Given the description of an element on the screen output the (x, y) to click on. 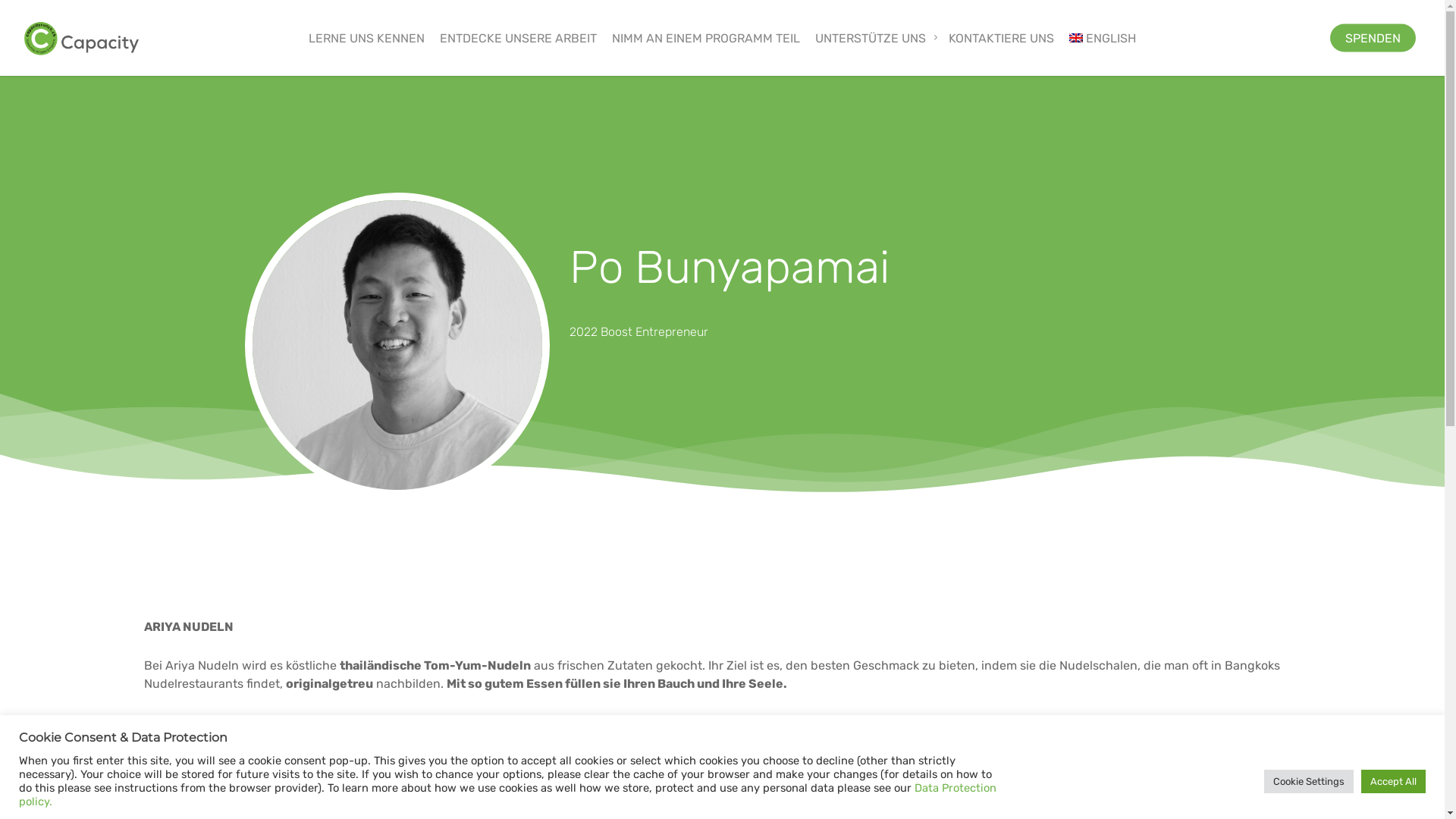
ariya@ariya-nudeln.ch Element type: text (208, 758)
ariya.nudeln Element type: text (243, 740)
www.ariya-nudeln.ch Element type: text (205, 722)
KONTAKTIERE UNS Element type: text (1001, 37)
ENTDECKE UNSERE ARBEIT Element type: text (518, 37)
ENGLISH Element type: text (1102, 37)
Data Protection policy. Element type: text (507, 794)
Cookie Settings Element type: text (1308, 780)
Accept All Element type: text (1393, 780)
NIMM AN EINEM PROGRAMM TEIL Element type: text (705, 37)
SPENDEN Element type: text (1372, 37)
LERNE UNS KENNEN Element type: text (366, 37)
